Given the description of an element on the screen output the (x, y) to click on. 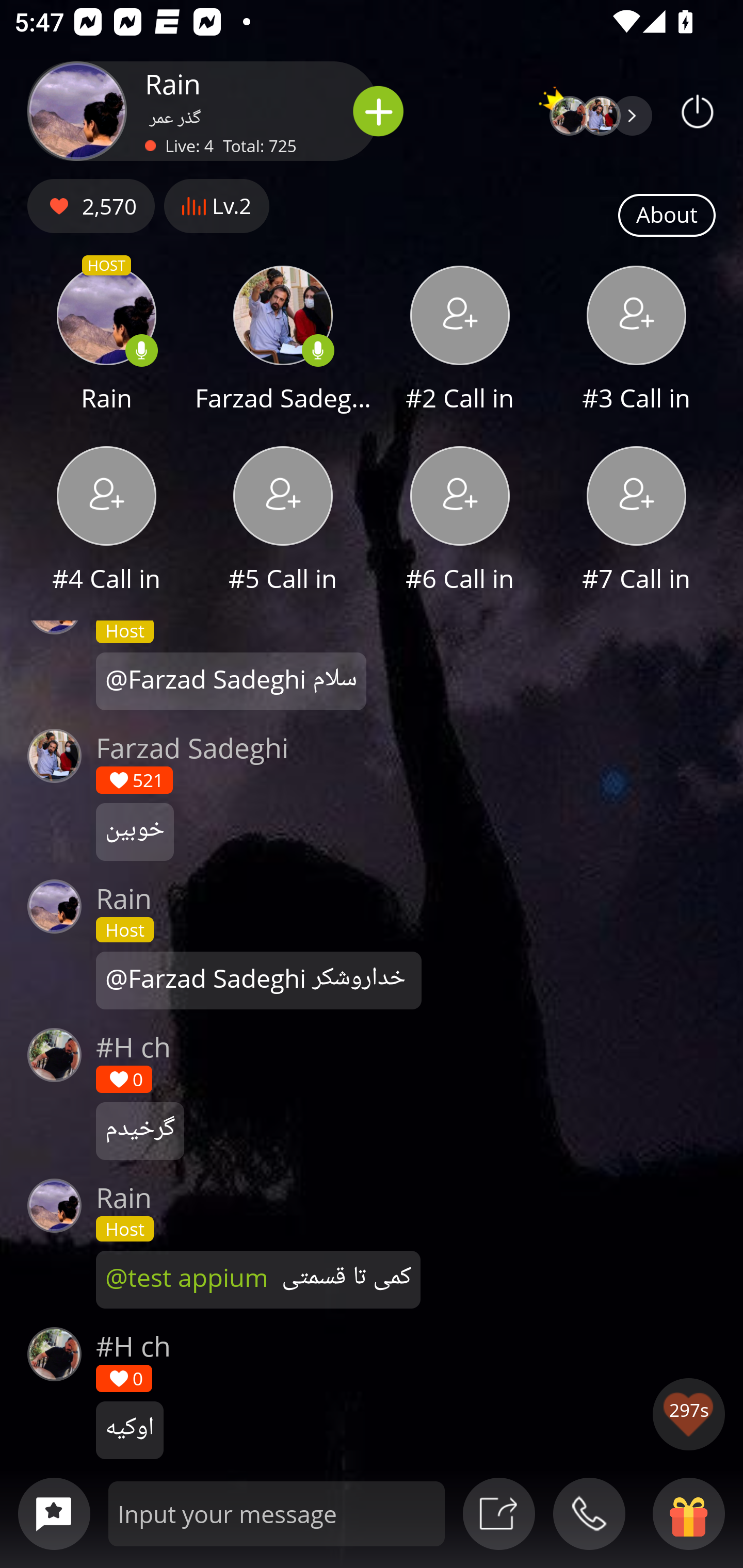
Podbean (697, 111)
About (666, 215)
HOST Rain (105, 340)
Farzad Sadeghi (282, 340)
#2 Call in (459, 340)
#3 Call in (636, 340)
#4 Call in (105, 521)
#5 Call in (282, 521)
#6 Call in (459, 521)
#7 Call in (636, 521)
Input your message (276, 1513)
